Given the description of an element on the screen output the (x, y) to click on. 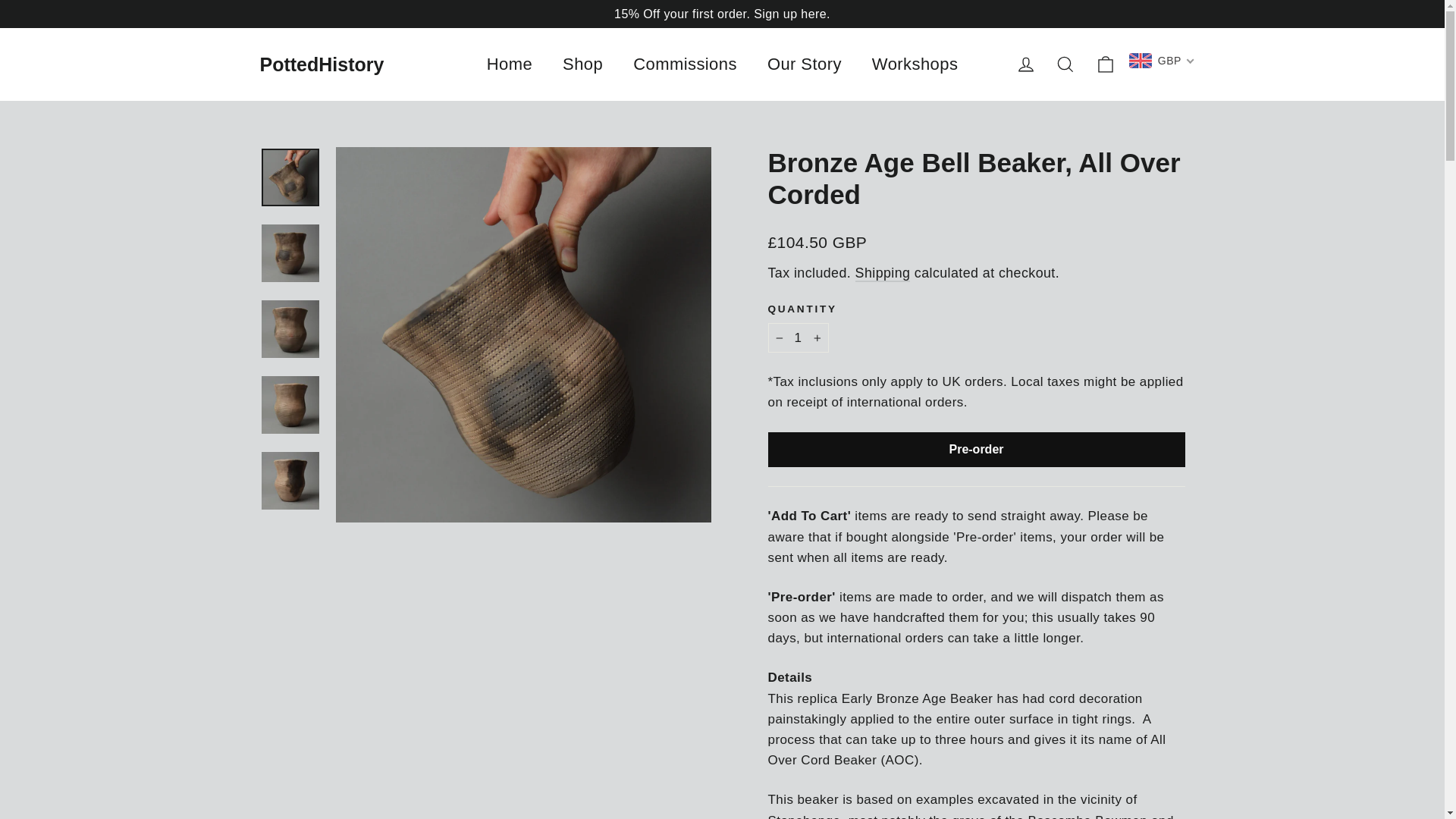
account (1025, 64)
icon-bag-minimal (1105, 64)
Workshops (1064, 63)
Shop (914, 64)
Commissions (582, 64)
Our Story (684, 64)
PottedHistory (804, 64)
Home (1105, 63)
